Given the description of an element on the screen output the (x, y) to click on. 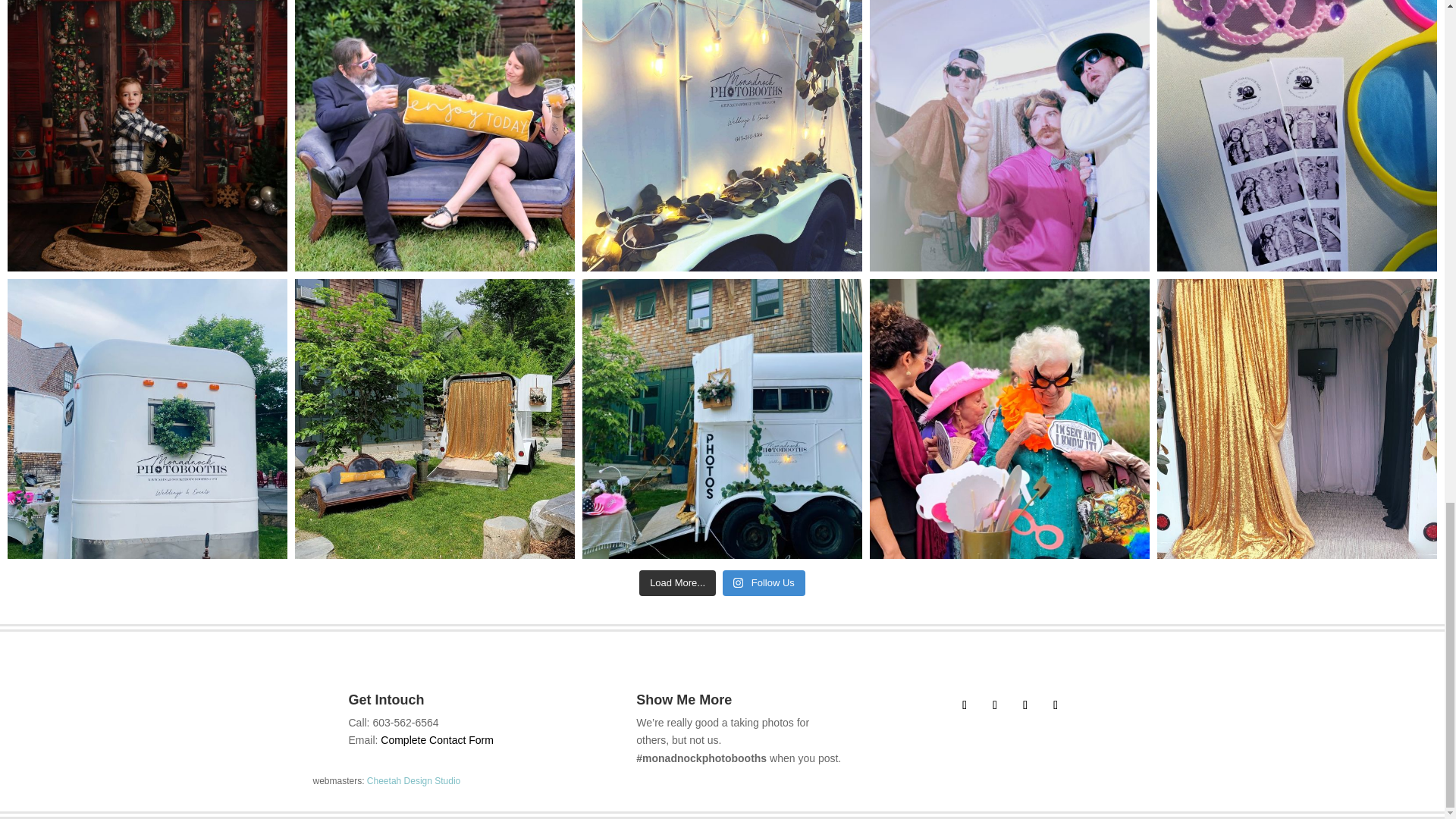
Follow on Instagram (1055, 704)
Follow on Instagram (994, 704)
Follow on LinkedIn (1024, 704)
Follow on Facebook (964, 704)
